Given the description of an element on the screen output the (x, y) to click on. 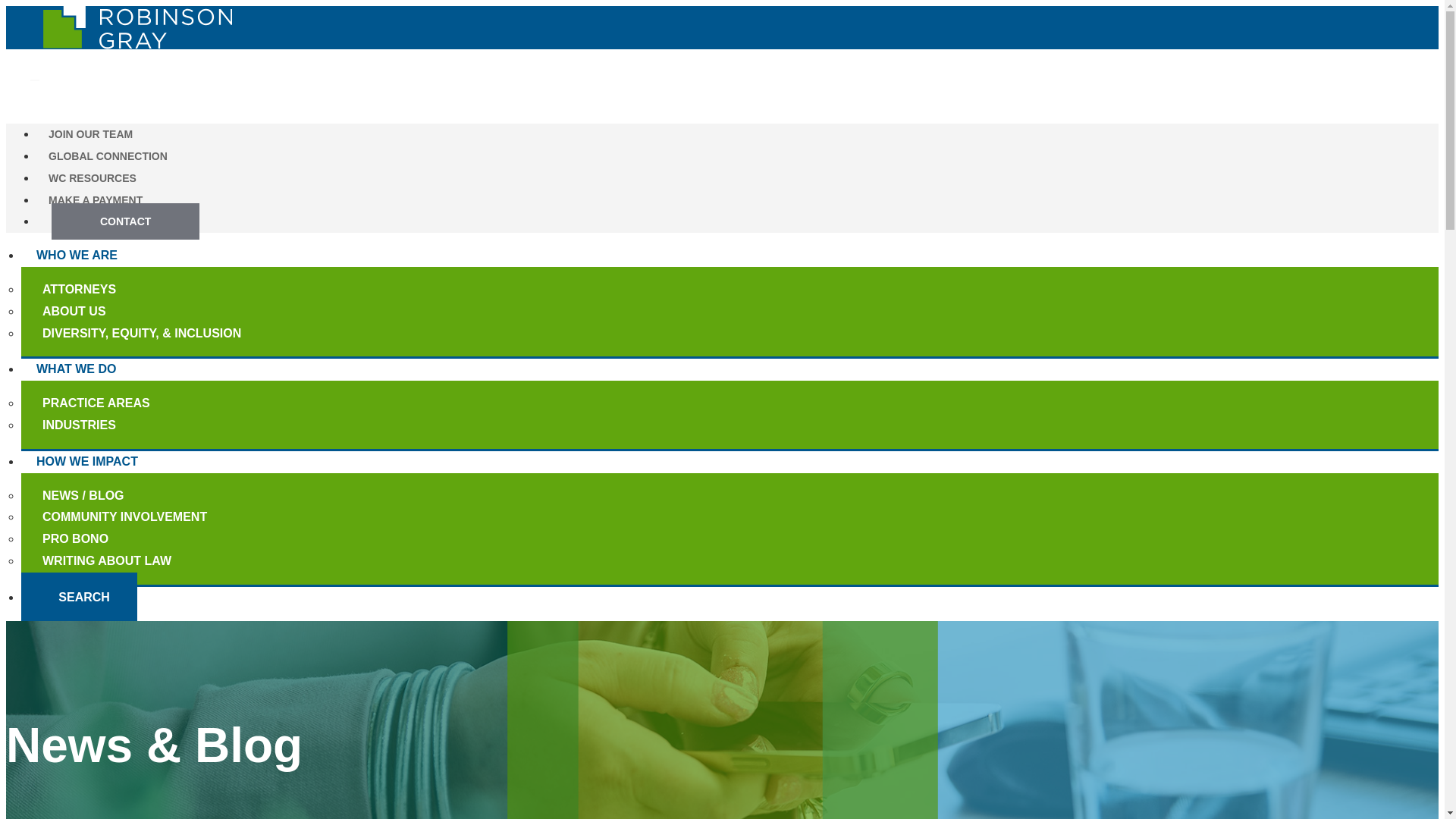
GLOBAL CONNECTION (107, 156)
ATTORNEYS (98, 289)
WRITING ABOUT LAW (126, 560)
   SEARCH (78, 596)
MAKE A PAYMENT (95, 199)
COMMUNITY INVOLVEMENT (144, 516)
PRO BONO (94, 538)
JOIN OUR TEAM (90, 134)
INDUSTRIES (98, 424)
WHO WE ARE (76, 255)
WC RESOURCES (92, 177)
ABOUT US (94, 311)
WHAT WE DO (76, 368)
PRACTICE AREAS (116, 402)
HOW WE IMPACT (86, 461)
